Given the description of an element on the screen output the (x, y) to click on. 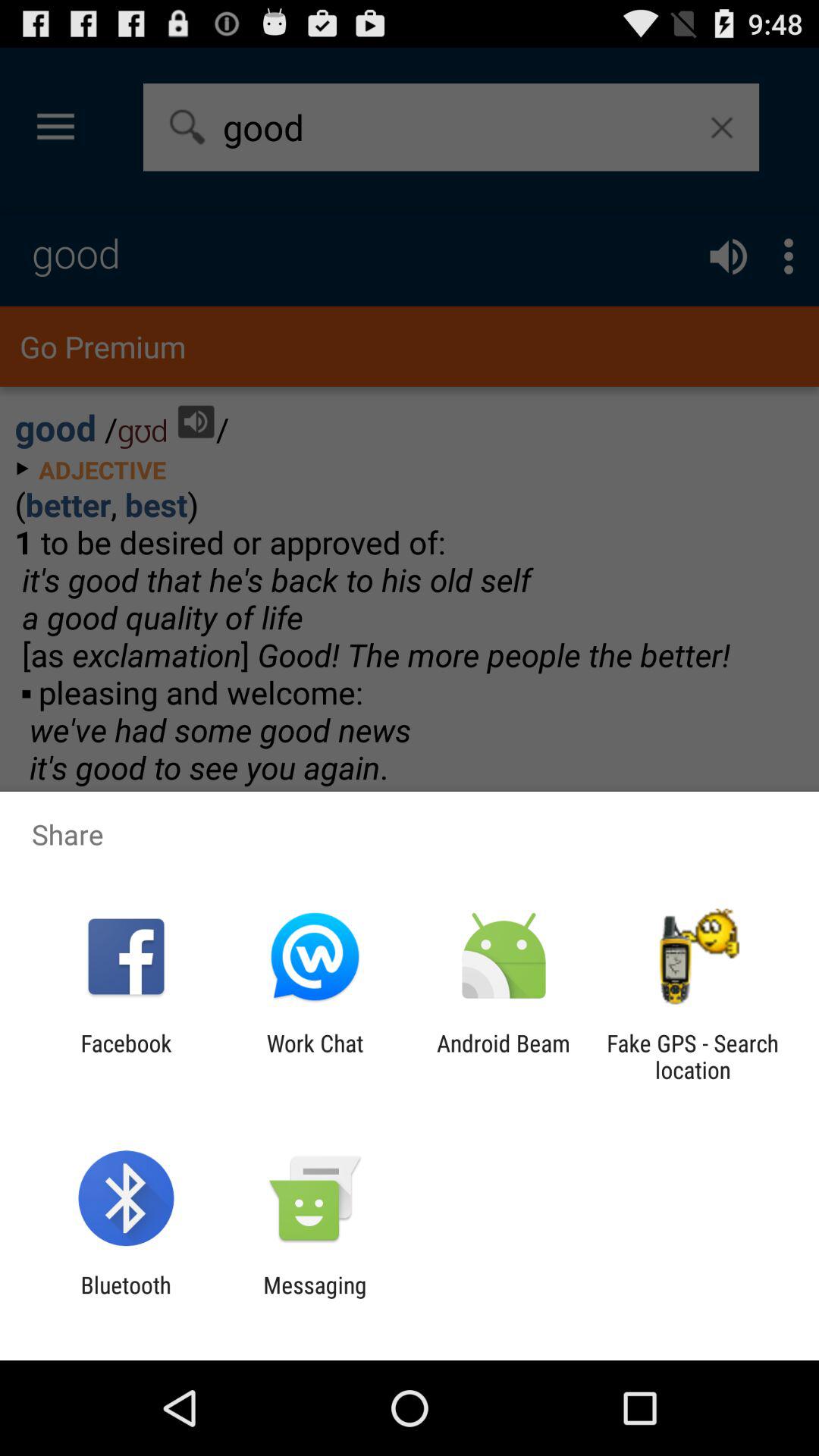
open app to the right of android beam (692, 1056)
